Given the description of an element on the screen output the (x, y) to click on. 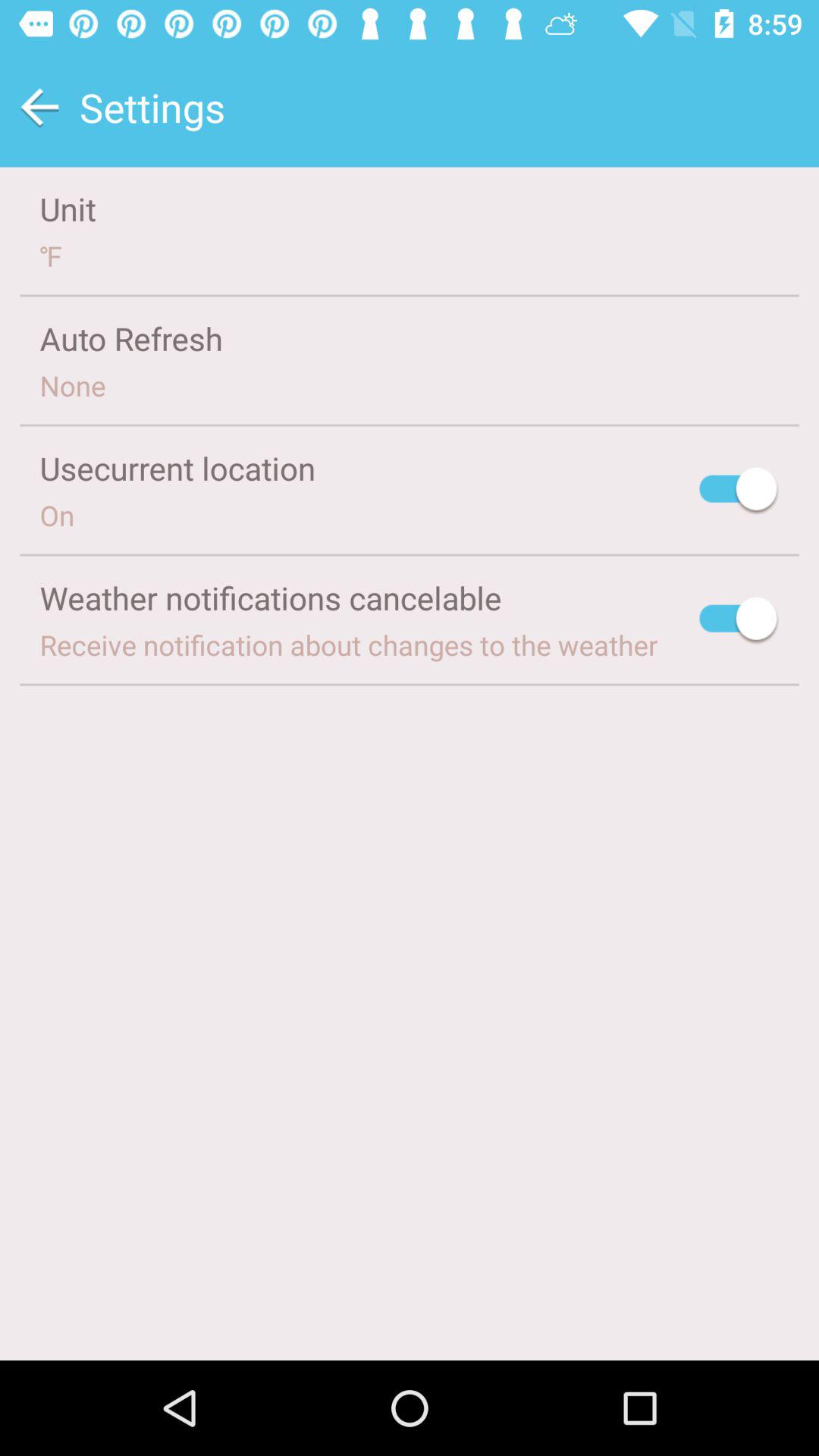
toggle location option (739, 491)
